Given the description of an element on the screen output the (x, y) to click on. 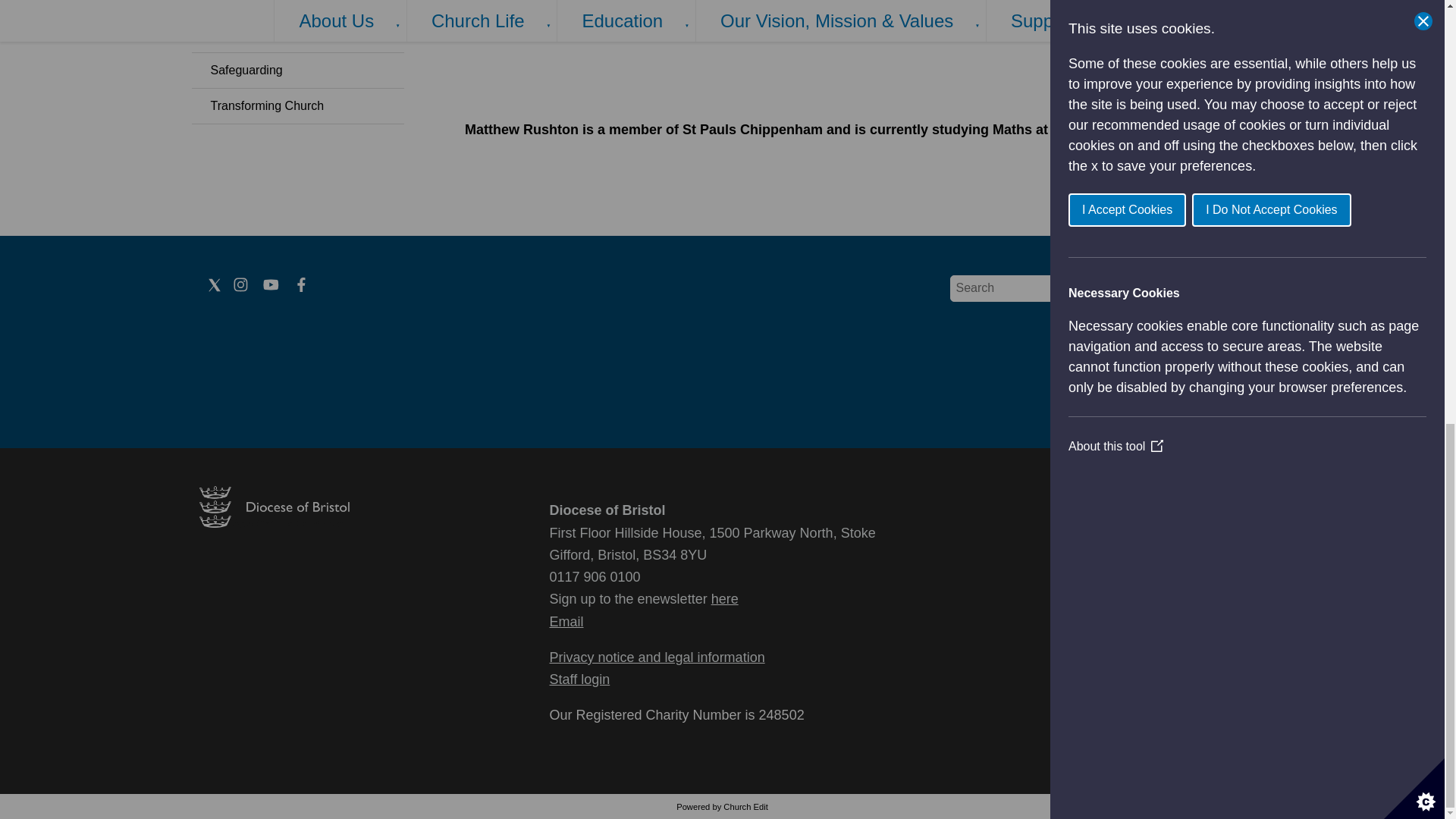
Diocese of Bristol Logo (273, 522)
